Given the description of an element on the screen output the (x, y) to click on. 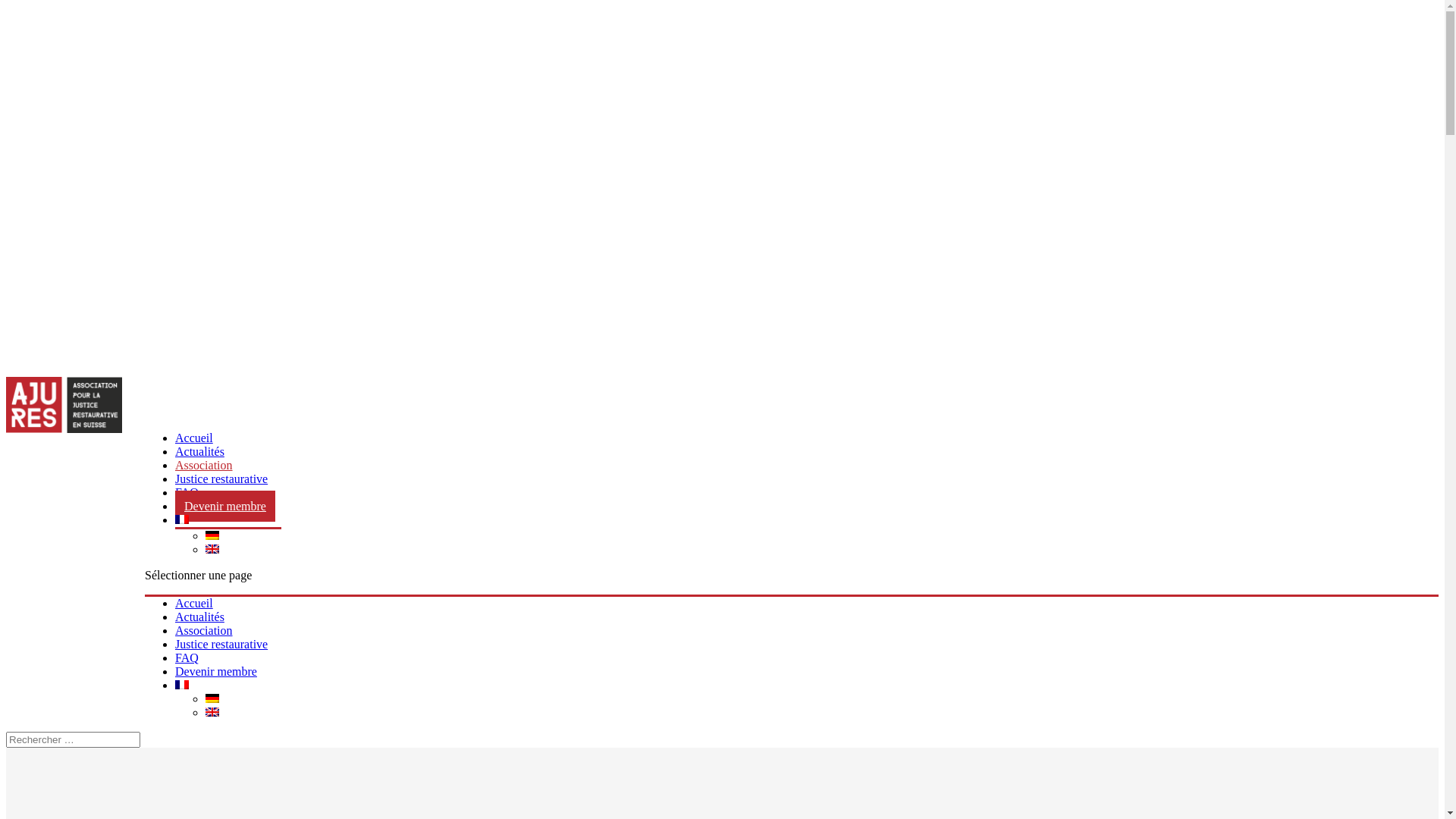
Rechercher: Element type: hover (73, 739)
FAQ Element type: text (186, 657)
Justice restaurative Element type: text (221, 643)
Devenir membre Element type: text (225, 505)
English Element type: hover (212, 548)
English Element type: hover (212, 711)
Deutsch Element type: hover (212, 697)
Devenir membre Element type: text (216, 671)
Association Element type: text (203, 464)
Justice restaurative Element type: text (221, 478)
Accueil Element type: text (194, 437)
Accueil Element type: text (194, 602)
Deutsch Element type: hover (212, 534)
FAQ Element type: text (186, 492)
Association Element type: text (203, 630)
